Given the description of an element on the screen output the (x, y) to click on. 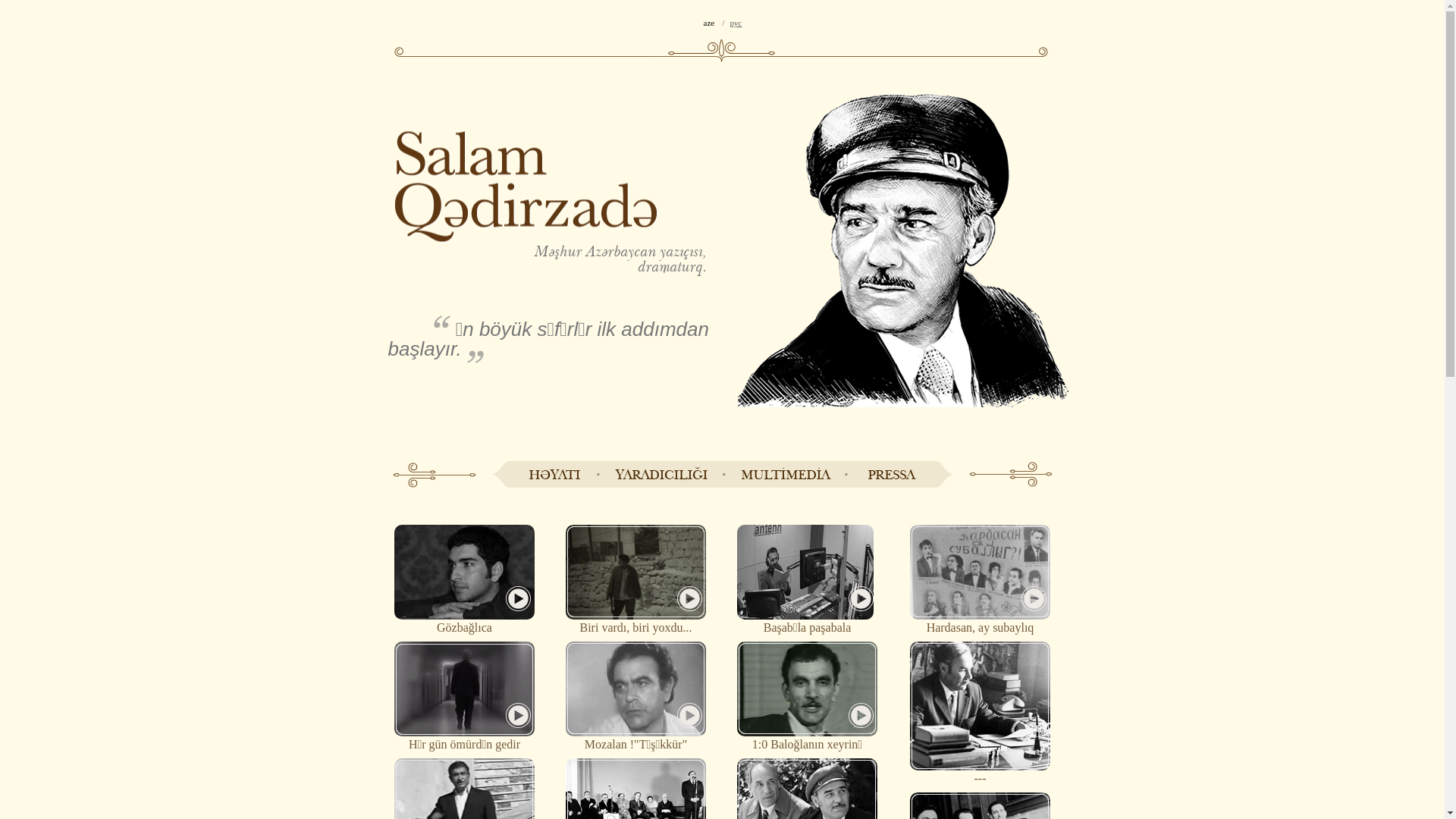
PRESSA Element type: text (890, 474)
